Given the description of an element on the screen output the (x, y) to click on. 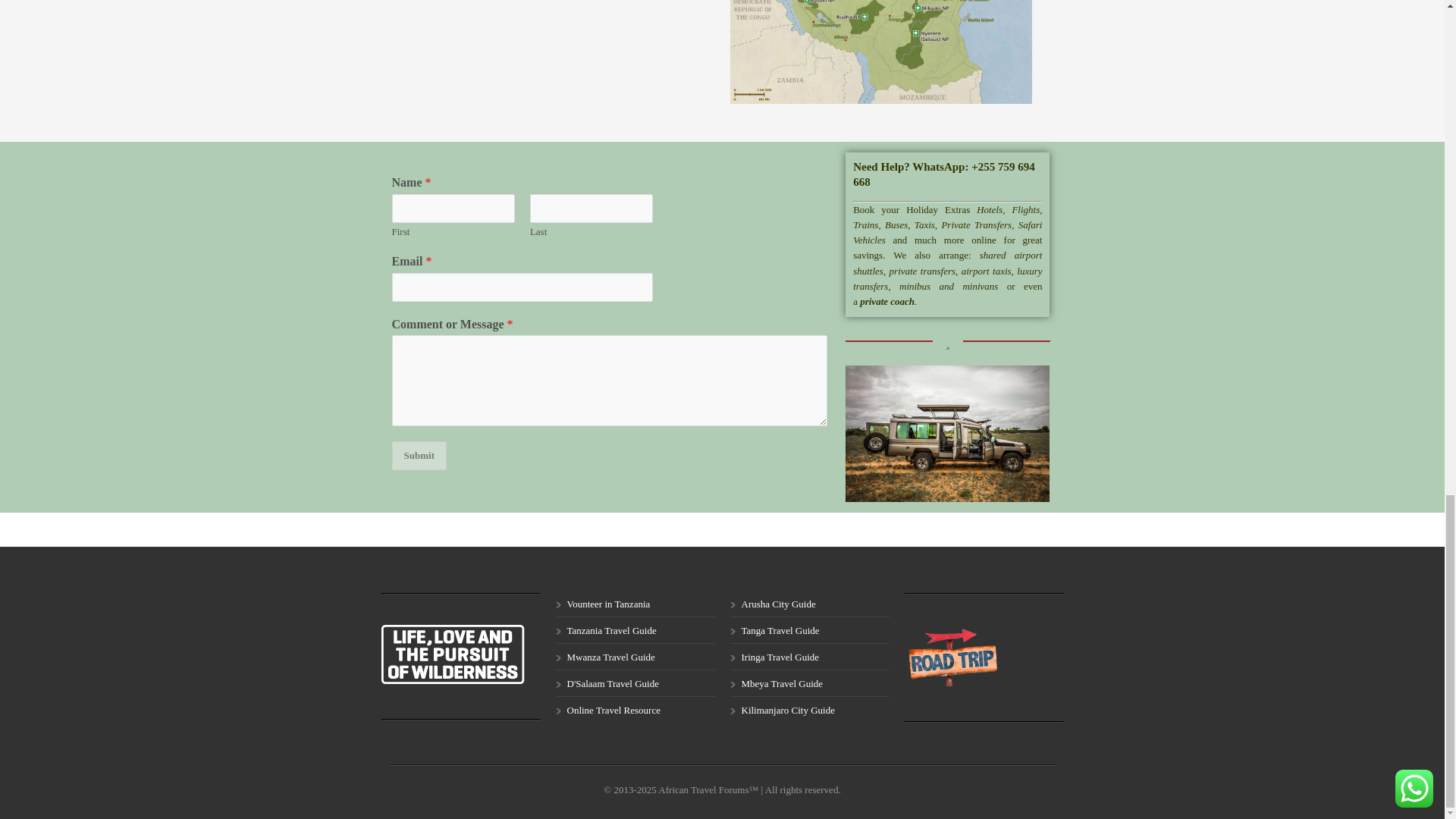
Tanzania Travel Guide (611, 630)
D'Salaam Travel Guide (613, 683)
Kilimanjaro City Guide (787, 709)
Tanga Travel Guide (780, 630)
shinyanga to mwanza airport (563, 49)
Submit (418, 455)
Mbeya Travel Guide (782, 683)
Arusha City Guide (778, 603)
Online Travel Resource (614, 709)
Mwanza Travel Guide (611, 656)
Iringa Travel Guide (780, 656)
Vounteer in Tanzania (608, 603)
